Given the description of an element on the screen output the (x, y) to click on. 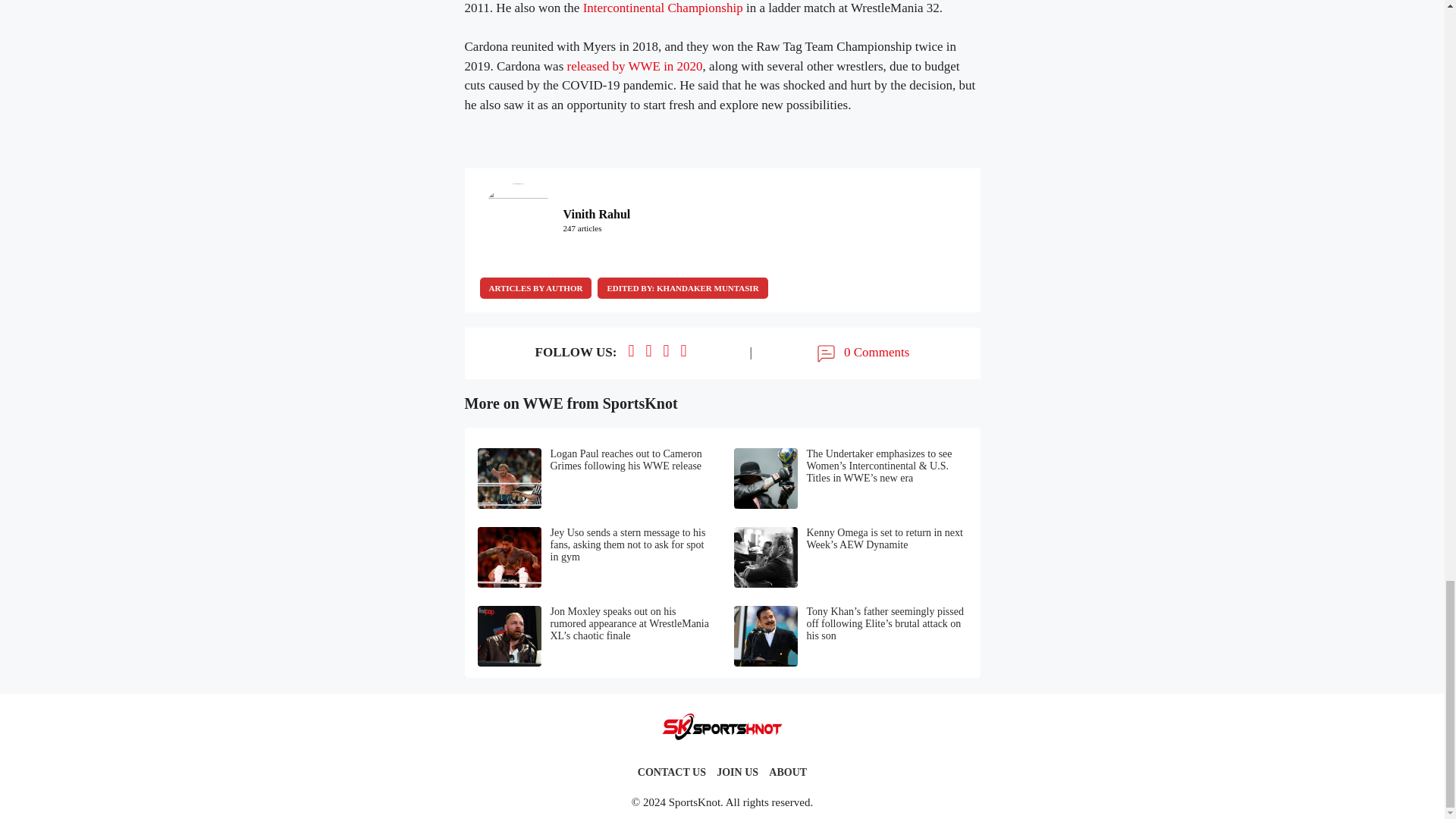
0 Comments (861, 353)
released by WWE in 2020 (635, 65)
ARTICLES BY AUTHOR (535, 287)
EDITED BY: KHANDAKER MUNTASIR (681, 287)
Intercontinental Championship (662, 7)
